Given the description of an element on the screen output the (x, y) to click on. 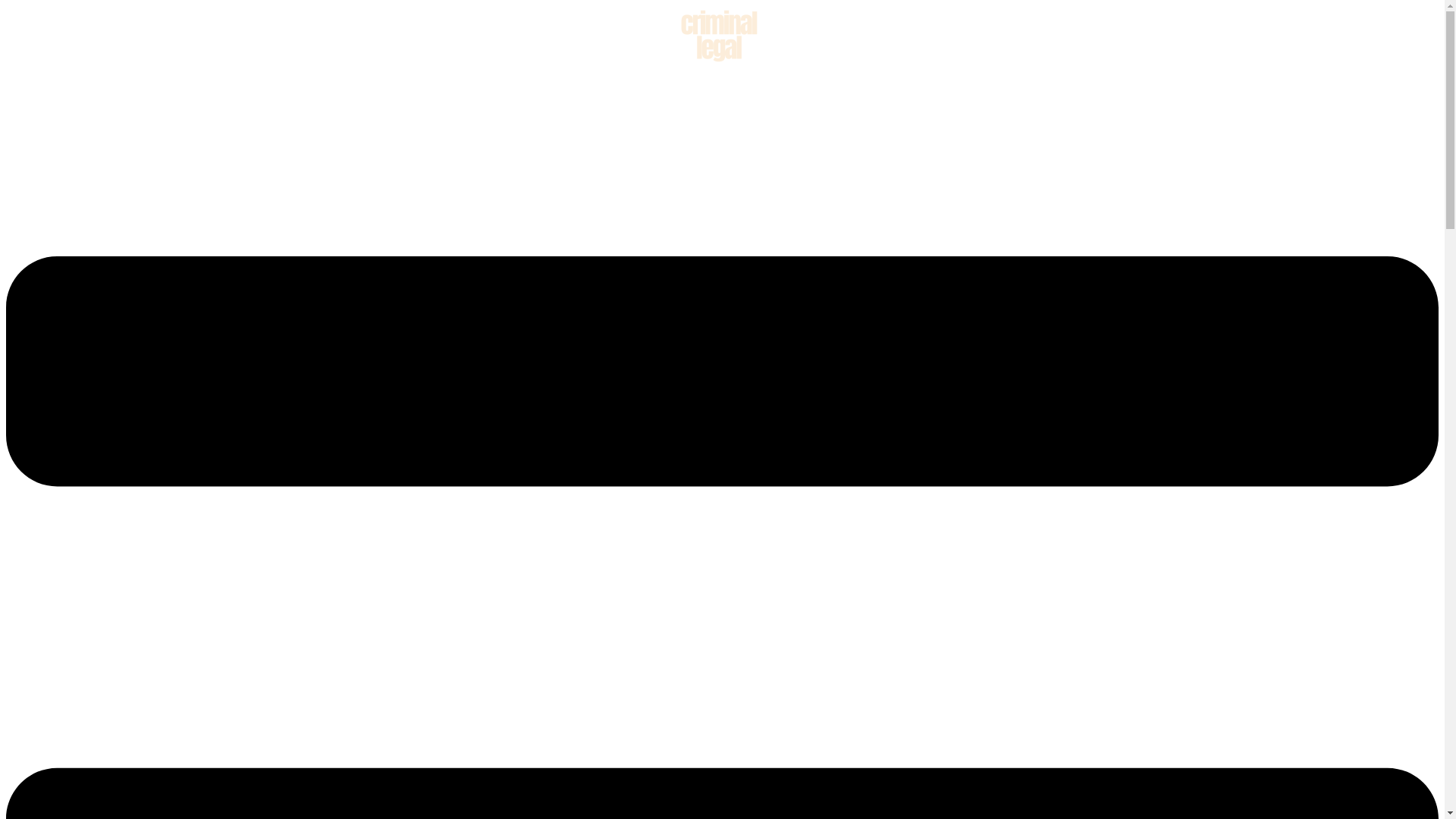
criminallegal cre Element type: hover (721, 35)
Skip to content Element type: text (5, 5)
